Given the description of an element on the screen output the (x, y) to click on. 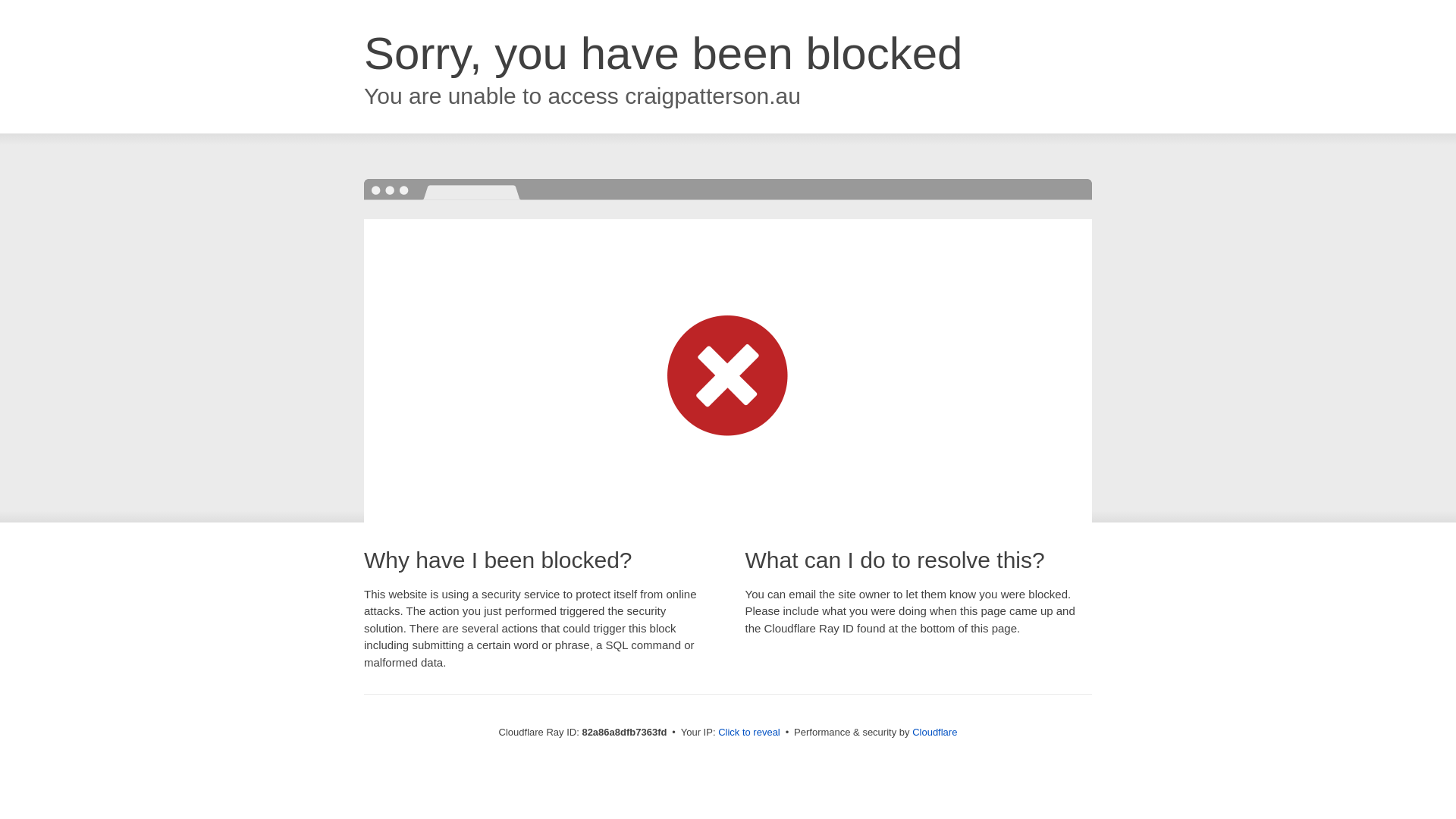
Cloudflare Element type: text (934, 731)
Click to reveal Element type: text (749, 732)
